Given the description of an element on the screen output the (x, y) to click on. 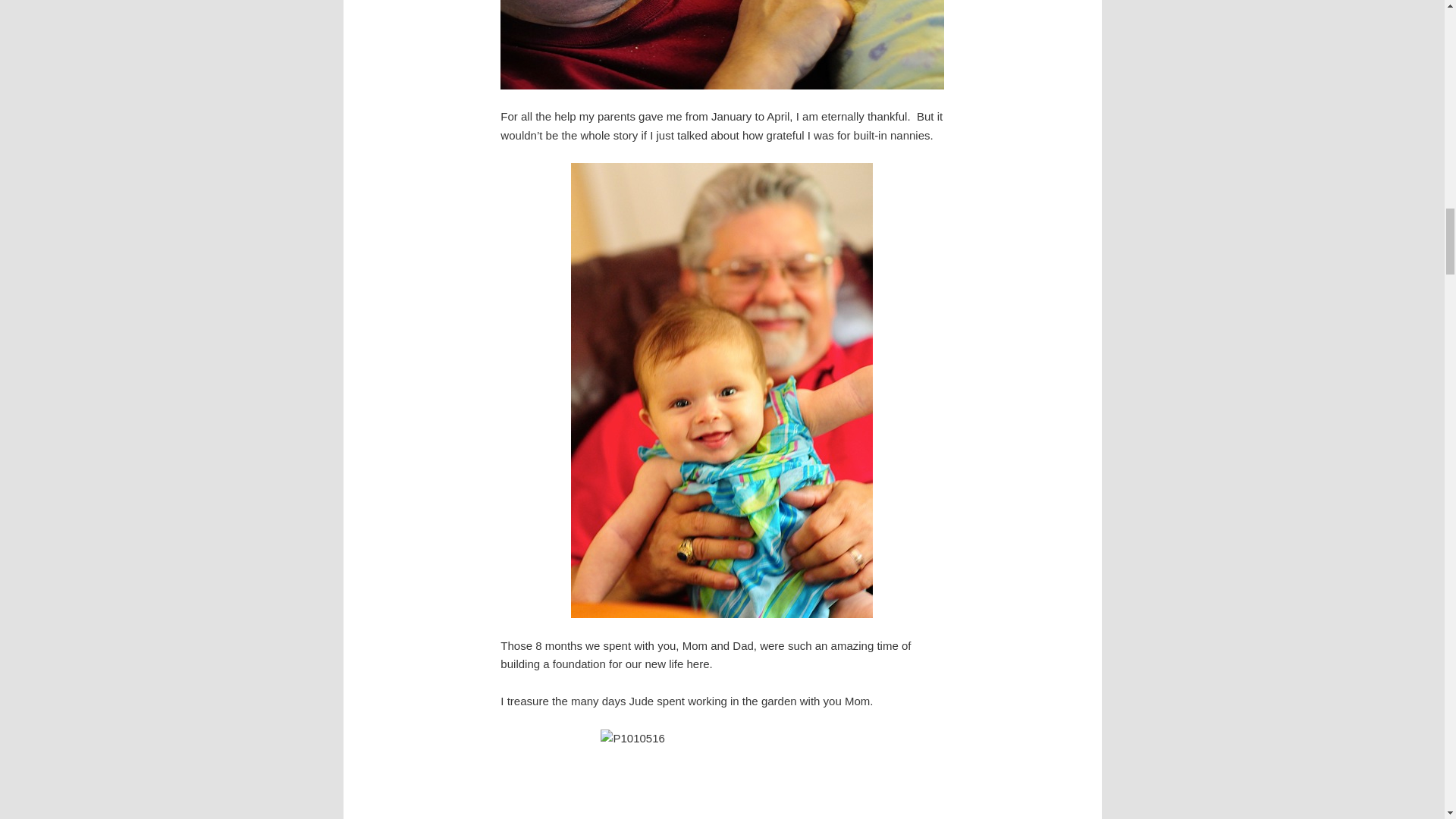
P1010516.jpg (721, 774)
